Given the description of an element on the screen output the (x, y) to click on. 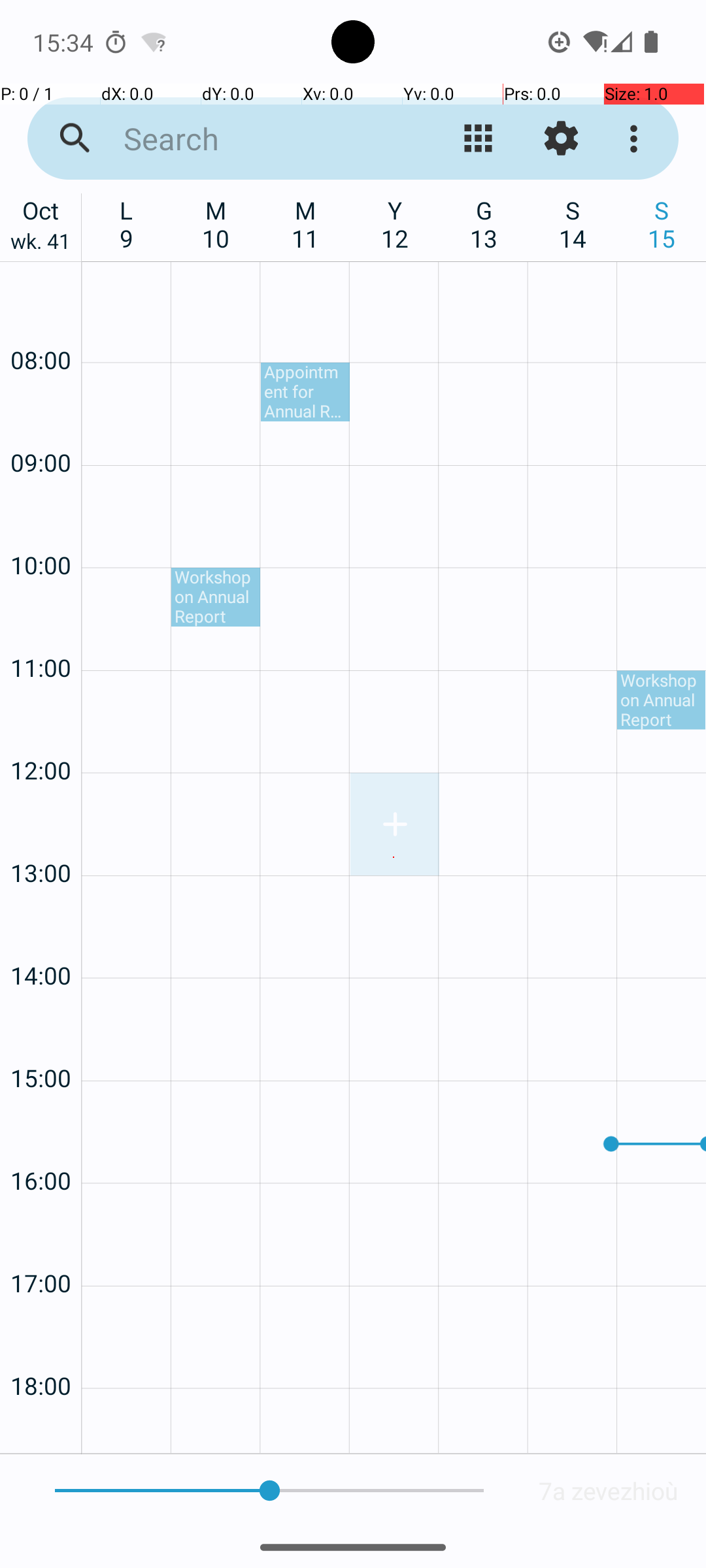
Kemmañ ar gwel Element type: android.widget.Button (477, 138)
7a zevezhioù Element type: android.widget.TextView (608, 1490)
L
9 Element type: android.widget.TextView (126, 223)
M
10 Element type: android.widget.TextView (215, 223)
M
11 Element type: android.widget.TextView (305, 223)
Y
12 Element type: android.widget.TextView (394, 223)
G
13 Element type: android.widget.TextView (483, 223)
